Given the description of an element on the screen output the (x, y) to click on. 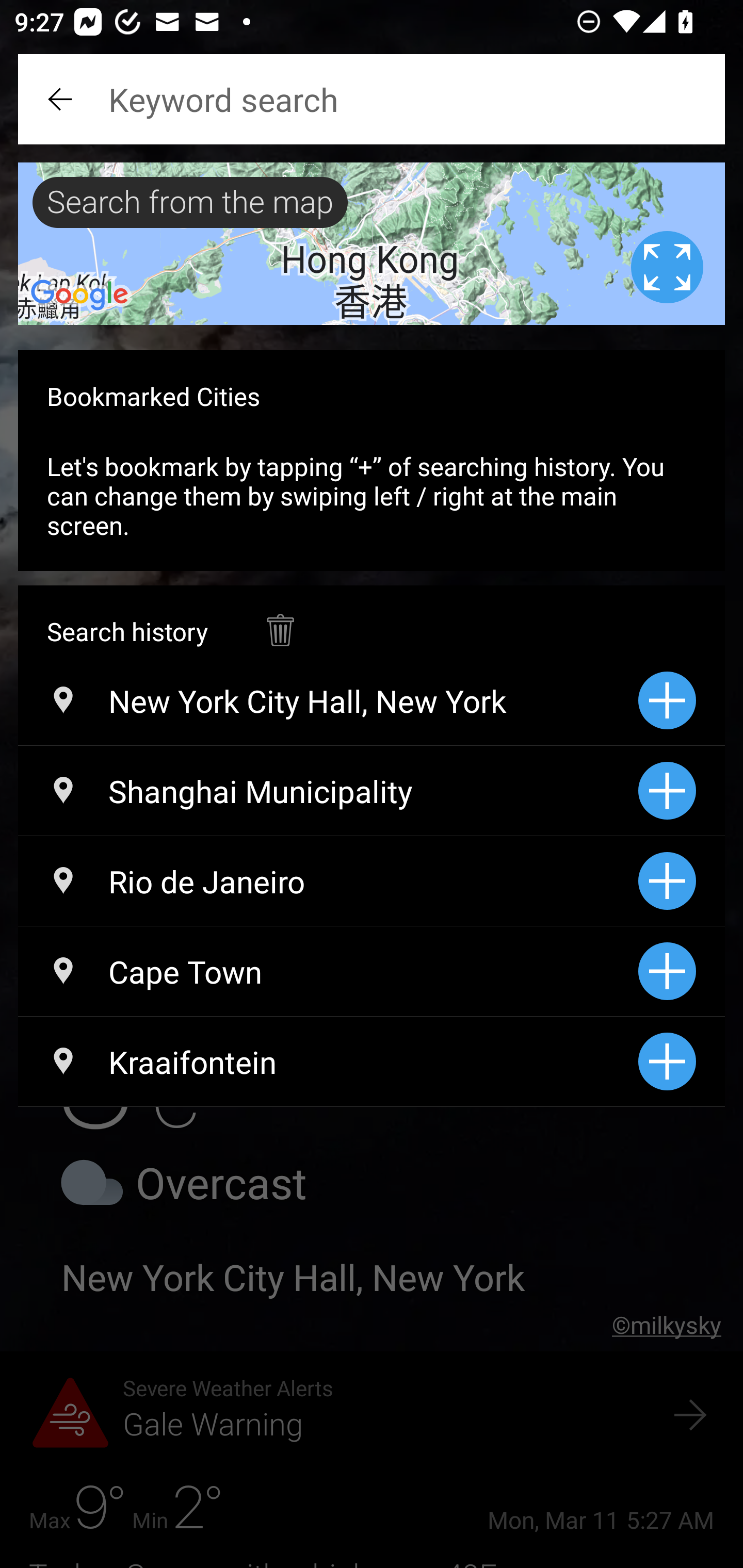
Keyword search (371, 99)
 (61, 99)
 (280, 619)
 New York City Hall, New York (327, 700)
 Shanghai Municipality (327, 790)
 Rio de Janeiro (327, 880)
 Cape Town (327, 971)
 Kraaifontein (327, 1061)
